Given the description of an element on the screen output the (x, y) to click on. 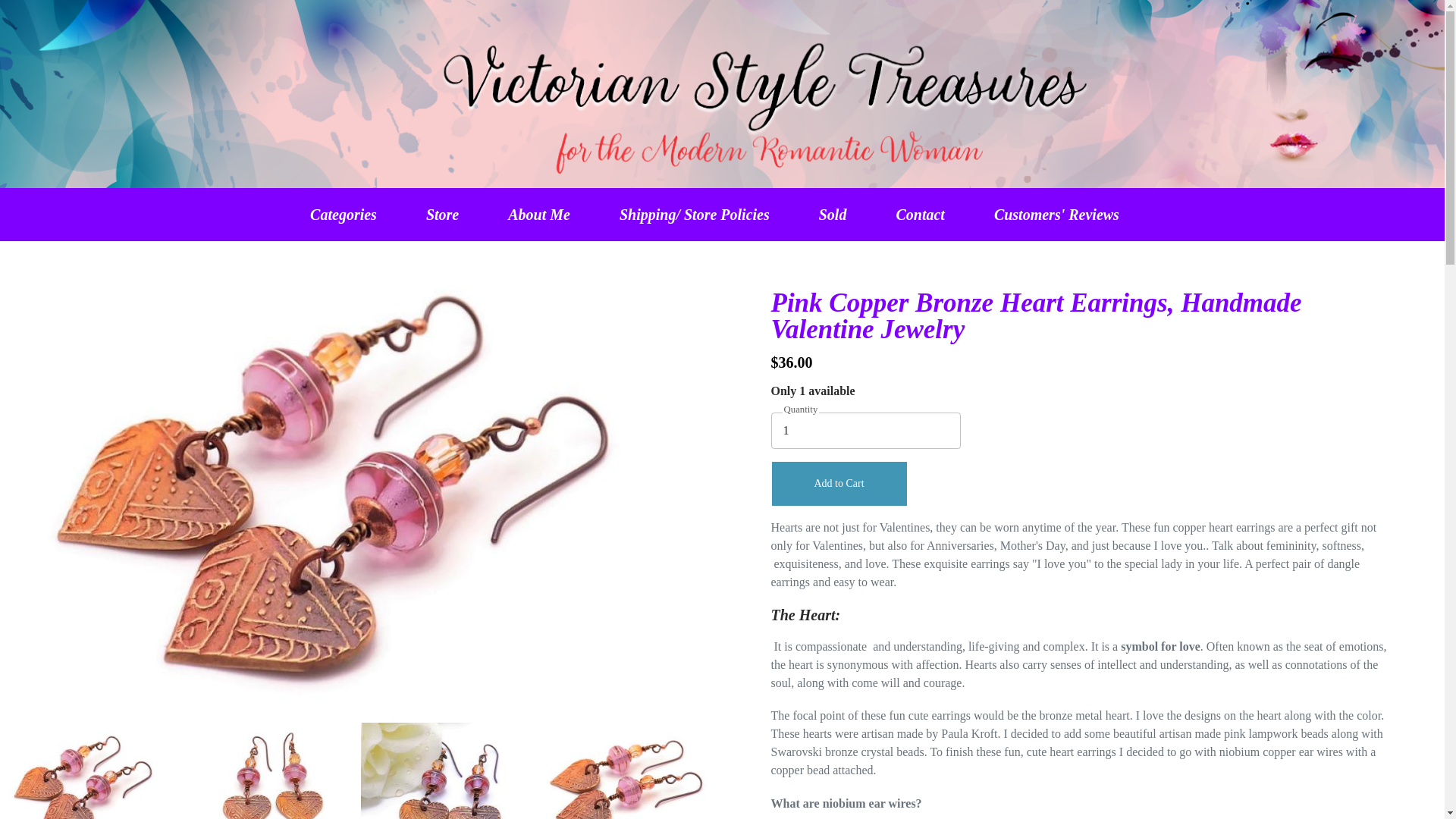
Add to Cart (838, 483)
1 (864, 430)
Store (442, 214)
Contact (919, 214)
Categories (342, 214)
Add to Cart (838, 483)
Sold (832, 214)
About Me (538, 214)
Customers' Reviews (1056, 214)
